Given the description of an element on the screen output the (x, y) to click on. 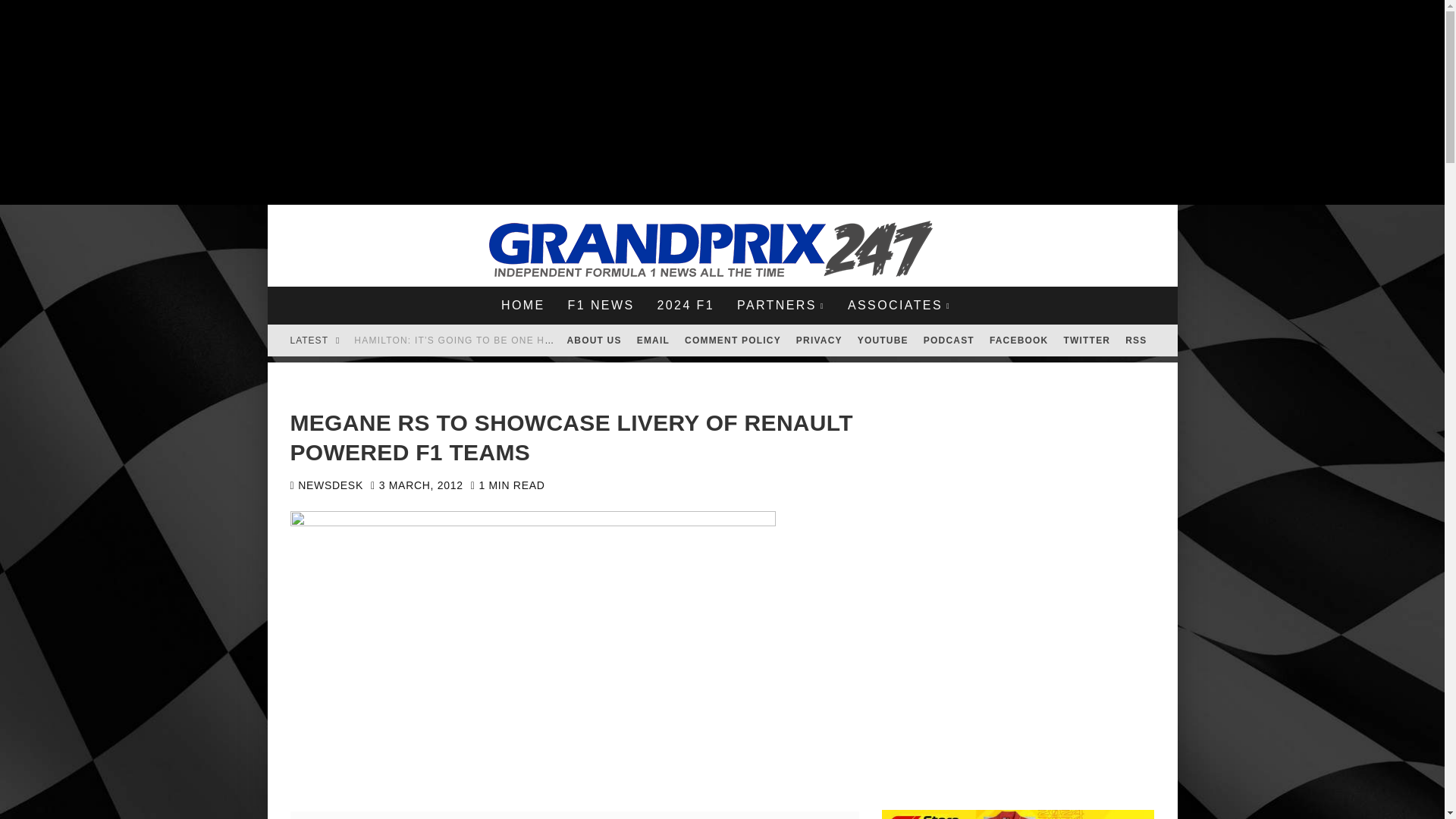
2024 F1 (685, 305)
ASSOCIATES (898, 305)
PRIVACY (819, 340)
PODCAST (948, 340)
YOUTUBE (882, 340)
FACEBOOK (1019, 340)
TWITTER (1086, 340)
COMMENT POLICY (733, 340)
Twitter GrandPrix247 (1086, 340)
ABOUT US (593, 340)
